Given the description of an element on the screen output the (x, y) to click on. 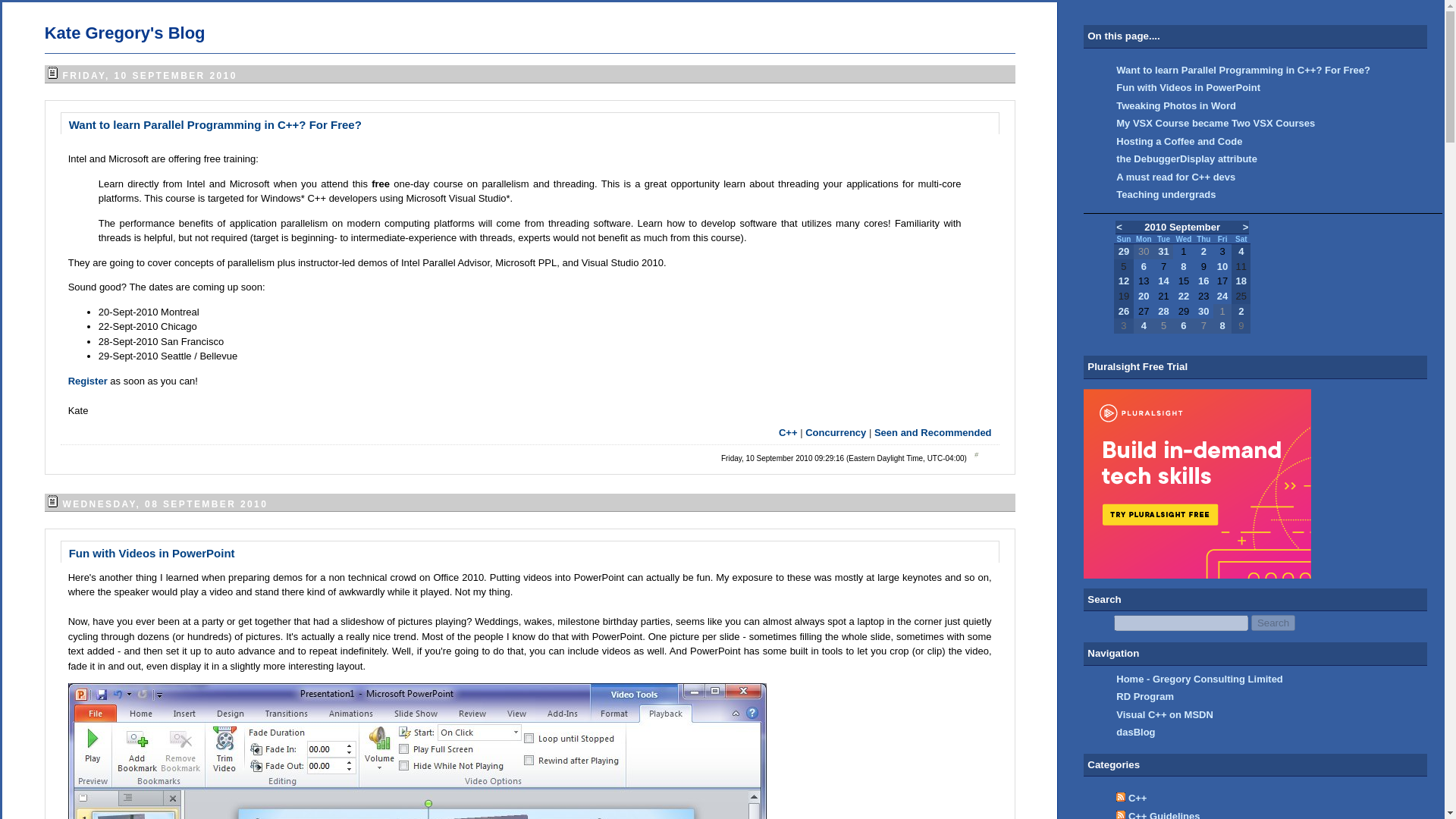
Kate Gregory's Blog (125, 32)
Search (1272, 622)
Fun with Videos in PowerPoint (151, 552)
Search (1272, 622)
Seen and Recommended (933, 432)
Register (89, 379)
Calendar (1181, 276)
Concurrency (835, 432)
